Given the description of an element on the screen output the (x, y) to click on. 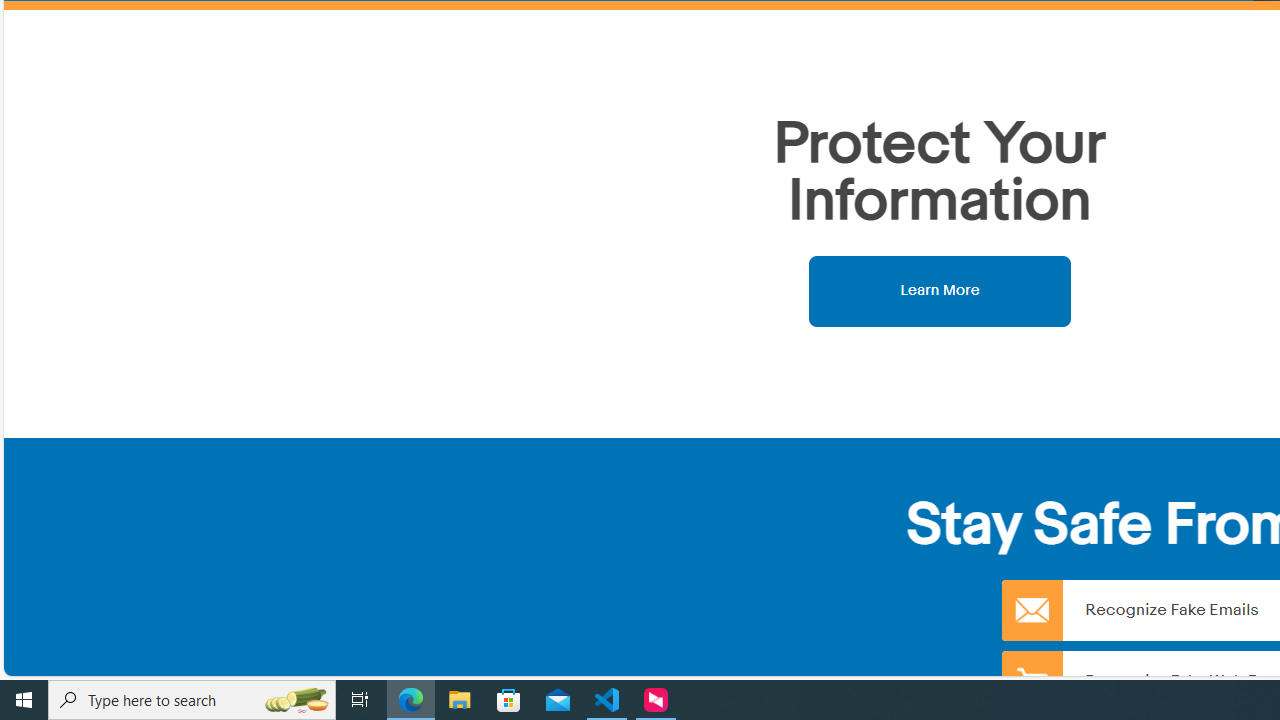
Learn More (939, 290)
